Given the description of an element on the screen output the (x, y) to click on. 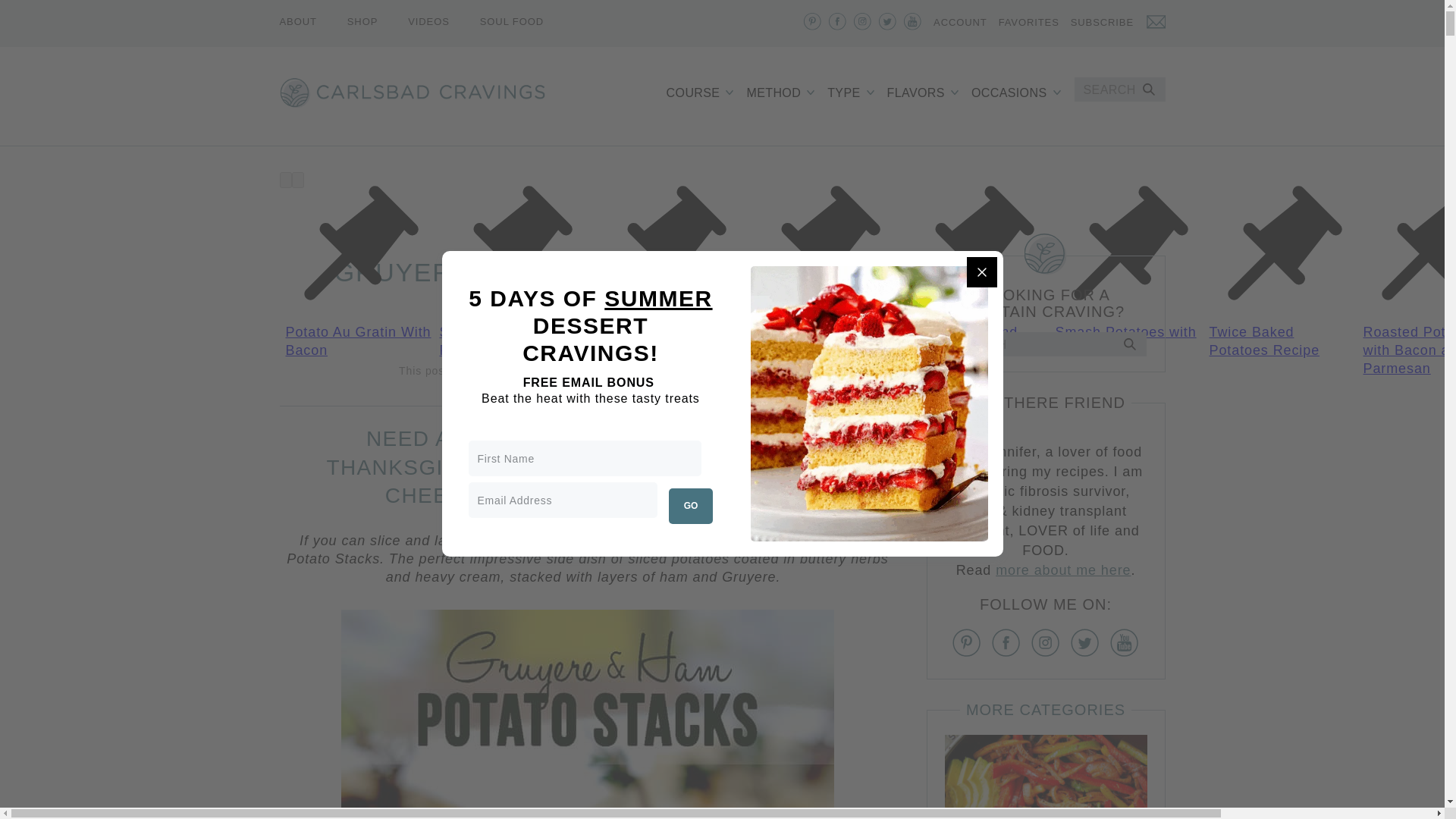
ABOUT (297, 21)
Search for (1044, 344)
COURSE (698, 92)
ACCOUNT (960, 24)
Search for (1119, 88)
METHOD (778, 92)
SOUL FOOD (511, 21)
VIDEOS (428, 21)
SHOP (362, 21)
Carlsbad Cravings (411, 91)
FAVORITES (1028, 24)
SUBSCRIBE (1118, 24)
